Given the description of an element on the screen output the (x, y) to click on. 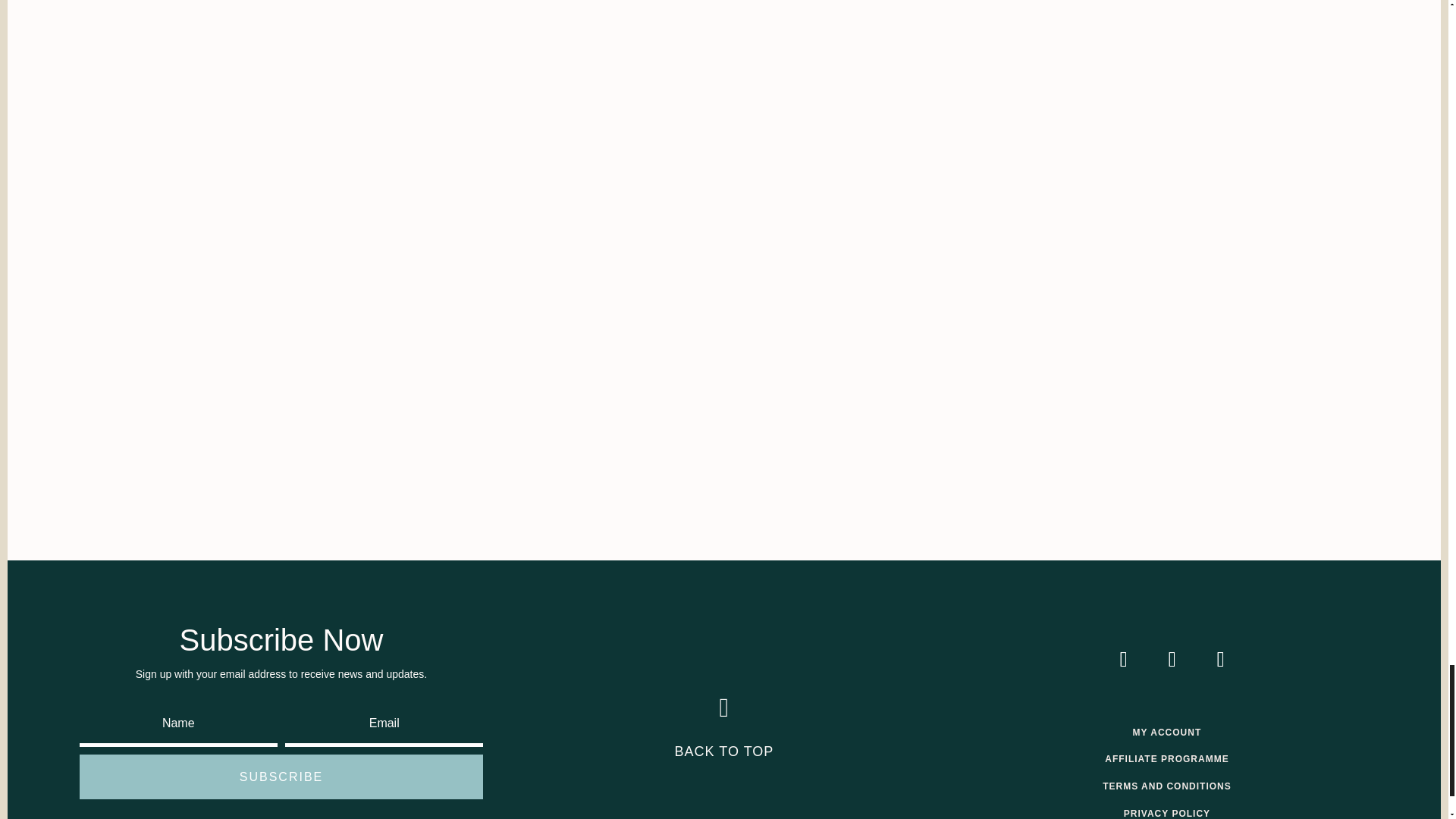
Follow on Instagram (1123, 659)
Follow on Facebook (1172, 659)
Follow on Youtube (1220, 659)
